Given the description of an element on the screen output the (x, y) to click on. 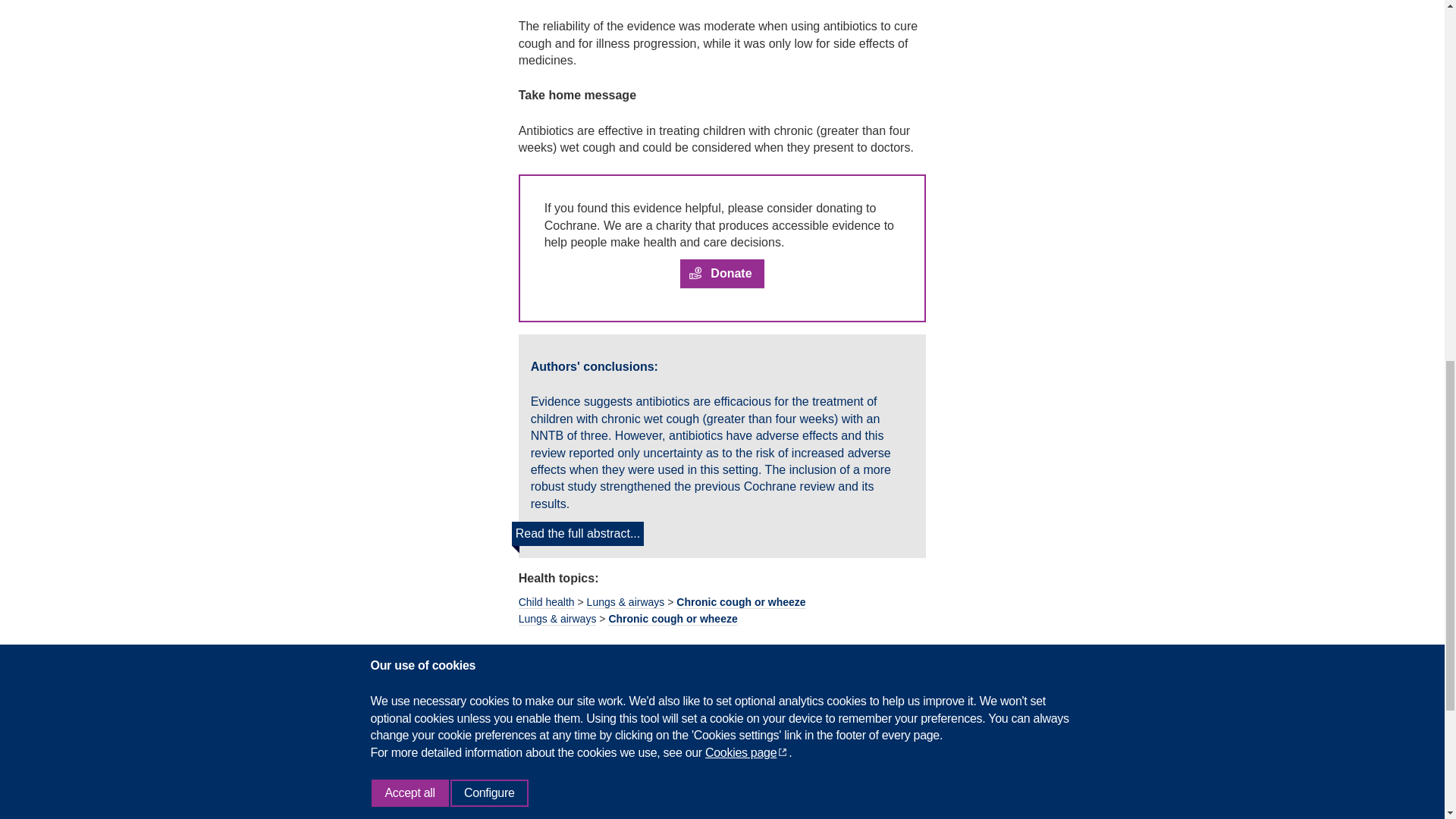
Donate (720, 274)
Chronic cough or wheeze (741, 602)
Chronic cough or wheeze (672, 618)
Child health (546, 602)
